Given the description of an element on the screen output the (x, y) to click on. 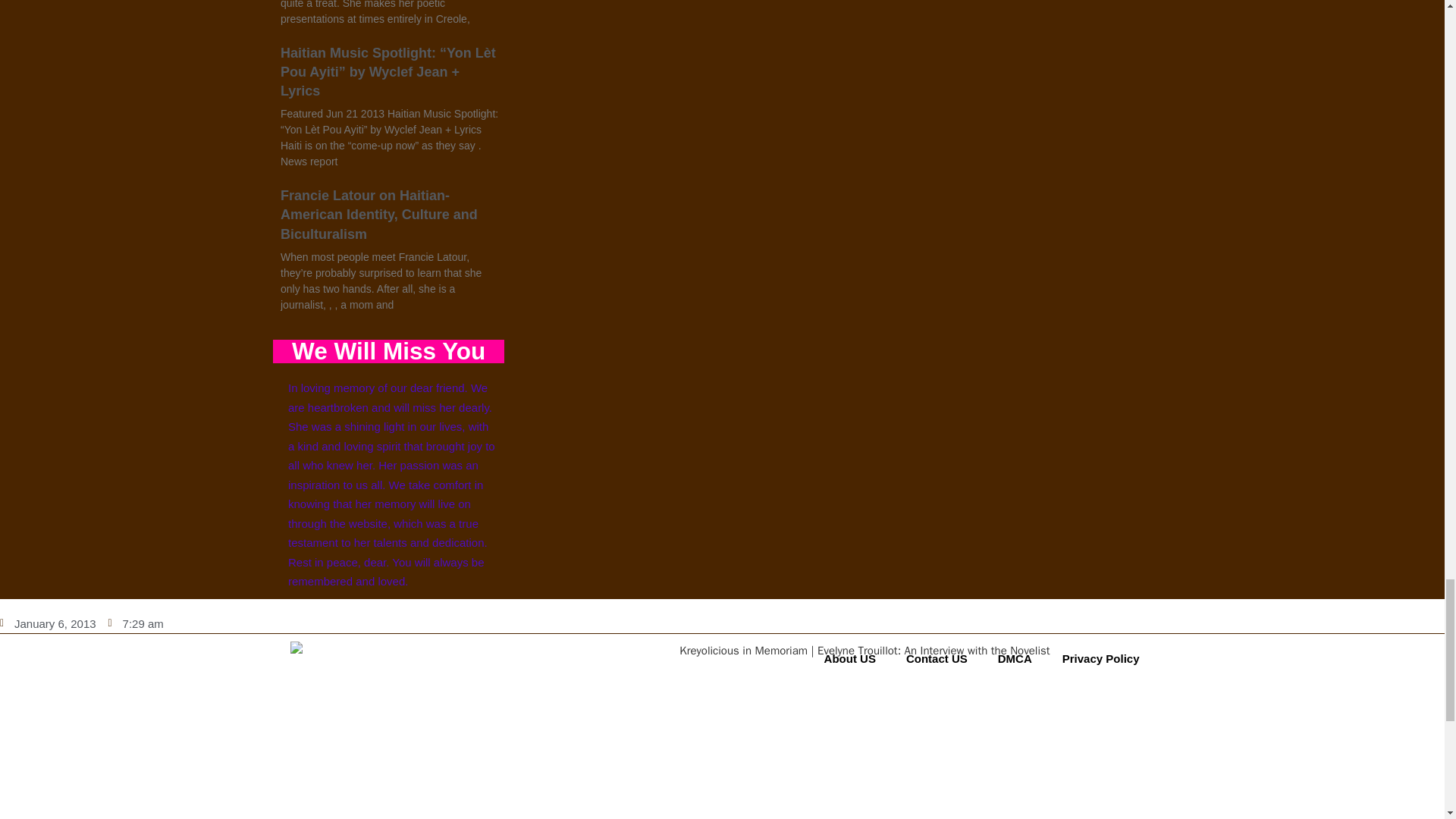
Contact US (936, 658)
DMCA (1014, 658)
About US (850, 658)
January 6, 2013 (48, 623)
Privacy Policy (1100, 658)
